Given the description of an element on the screen output the (x, y) to click on. 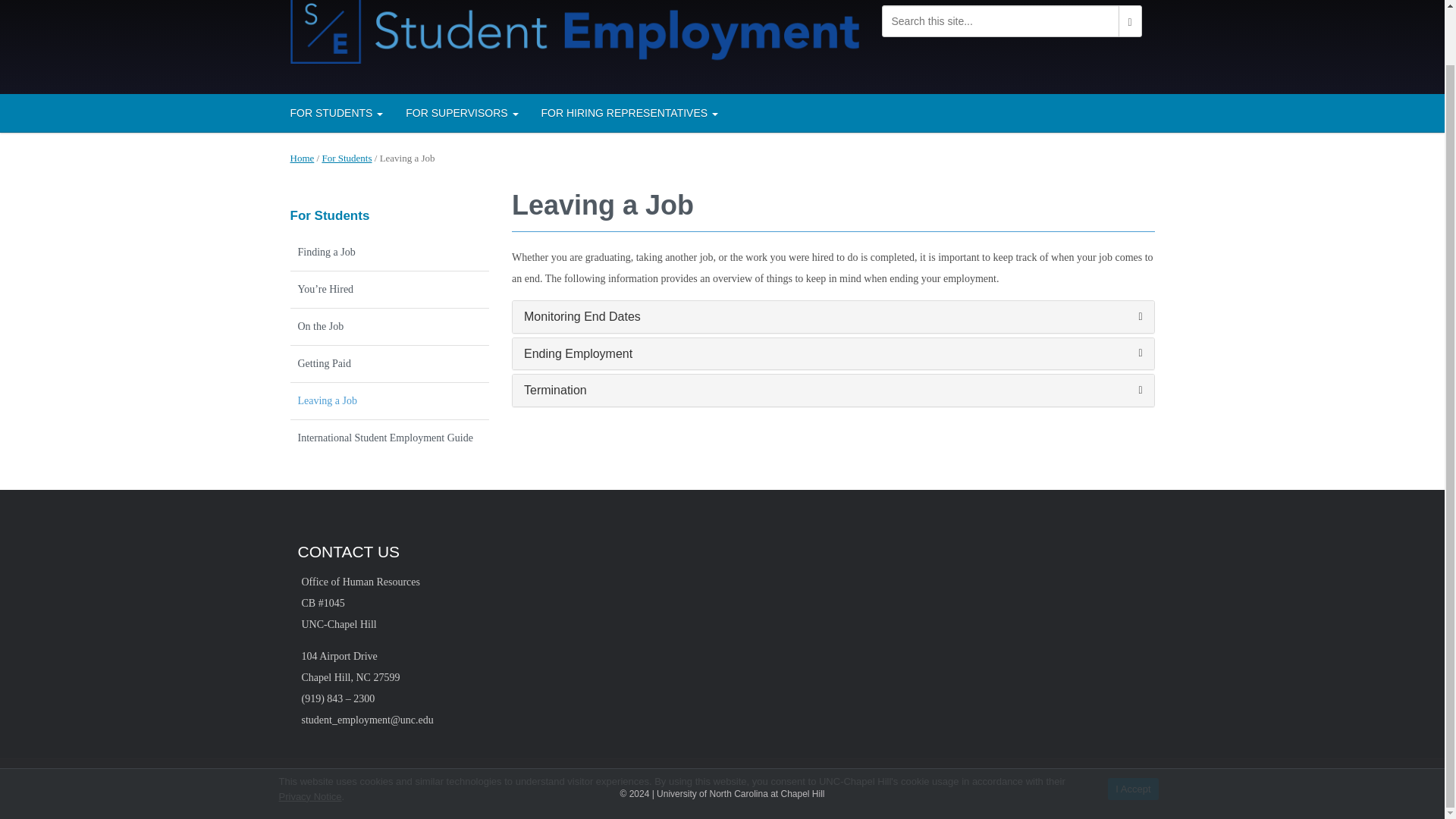
I Accept (1132, 730)
Privacy Notice (310, 736)
For Students (329, 215)
Home (301, 157)
Student Employment at UNC (574, 26)
FOR HIRING REPRESENTATIVES (629, 112)
FOR SUPERVISORS (461, 112)
Monitoring End Dates (833, 316)
FOR STUDENTS (336, 112)
For Students (346, 157)
